Given the description of an element on the screen output the (x, y) to click on. 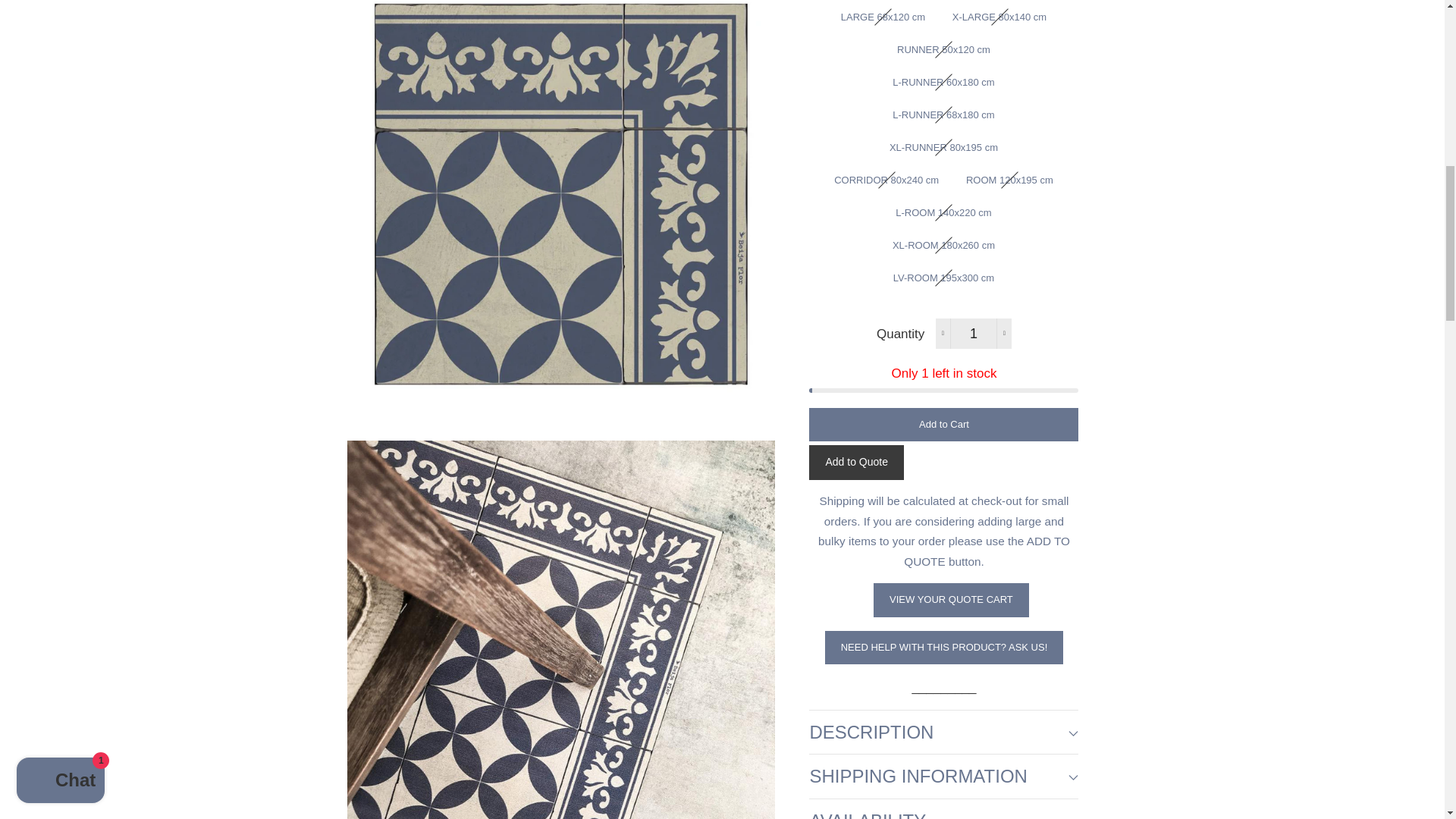
1 (973, 333)
